Given the description of an element on the screen output the (x, y) to click on. 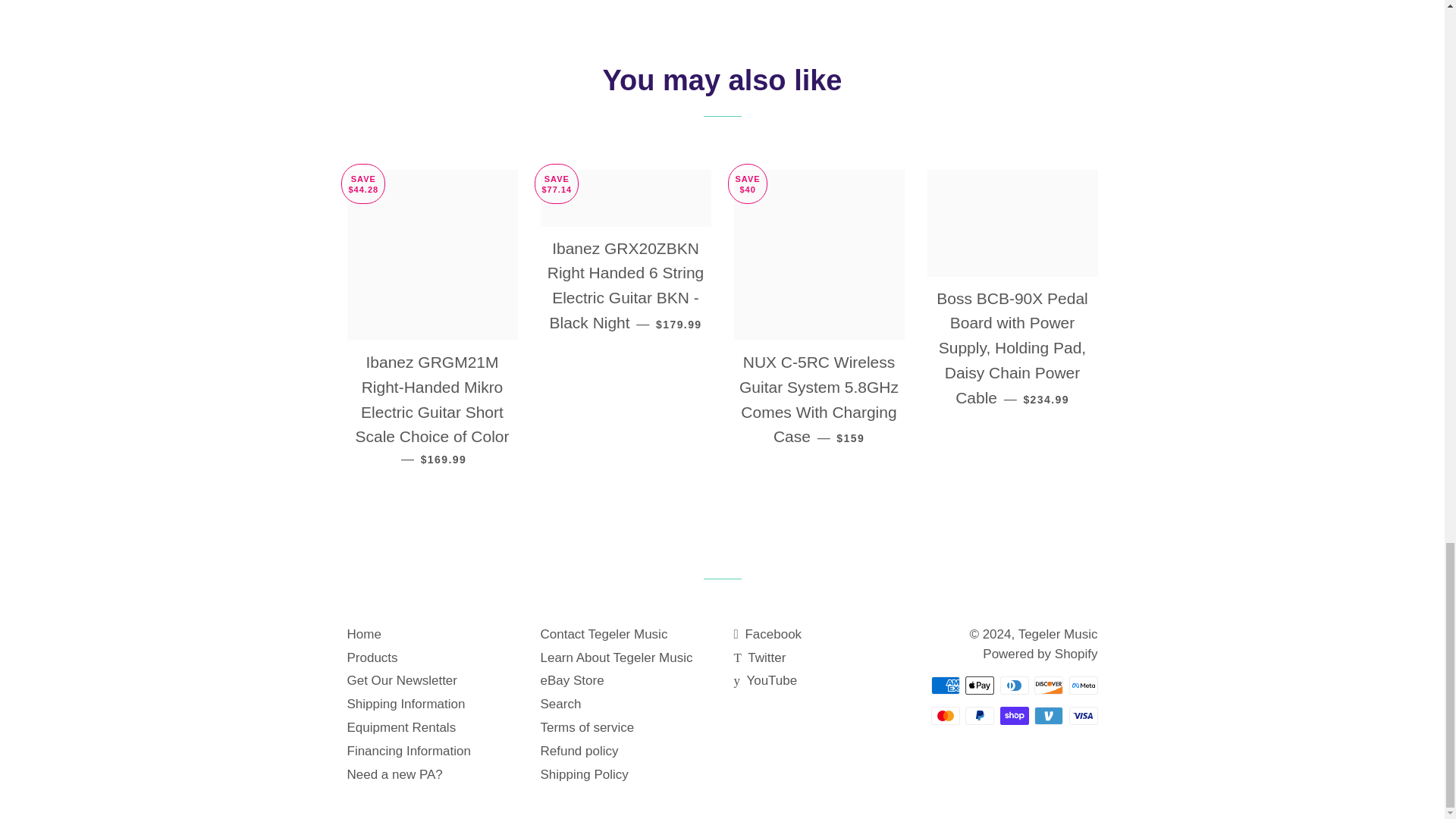
Meta Pay (1082, 685)
Visa (1082, 715)
Tegeler Music on Twitter (759, 657)
Diners Club (1012, 685)
Discover (1047, 685)
Apple Pay (979, 685)
Tegeler Music on YouTube (765, 680)
Tegeler Music on Facebook (767, 634)
Venmo (1047, 715)
PayPal (979, 715)
